Given the description of an element on the screen output the (x, y) to click on. 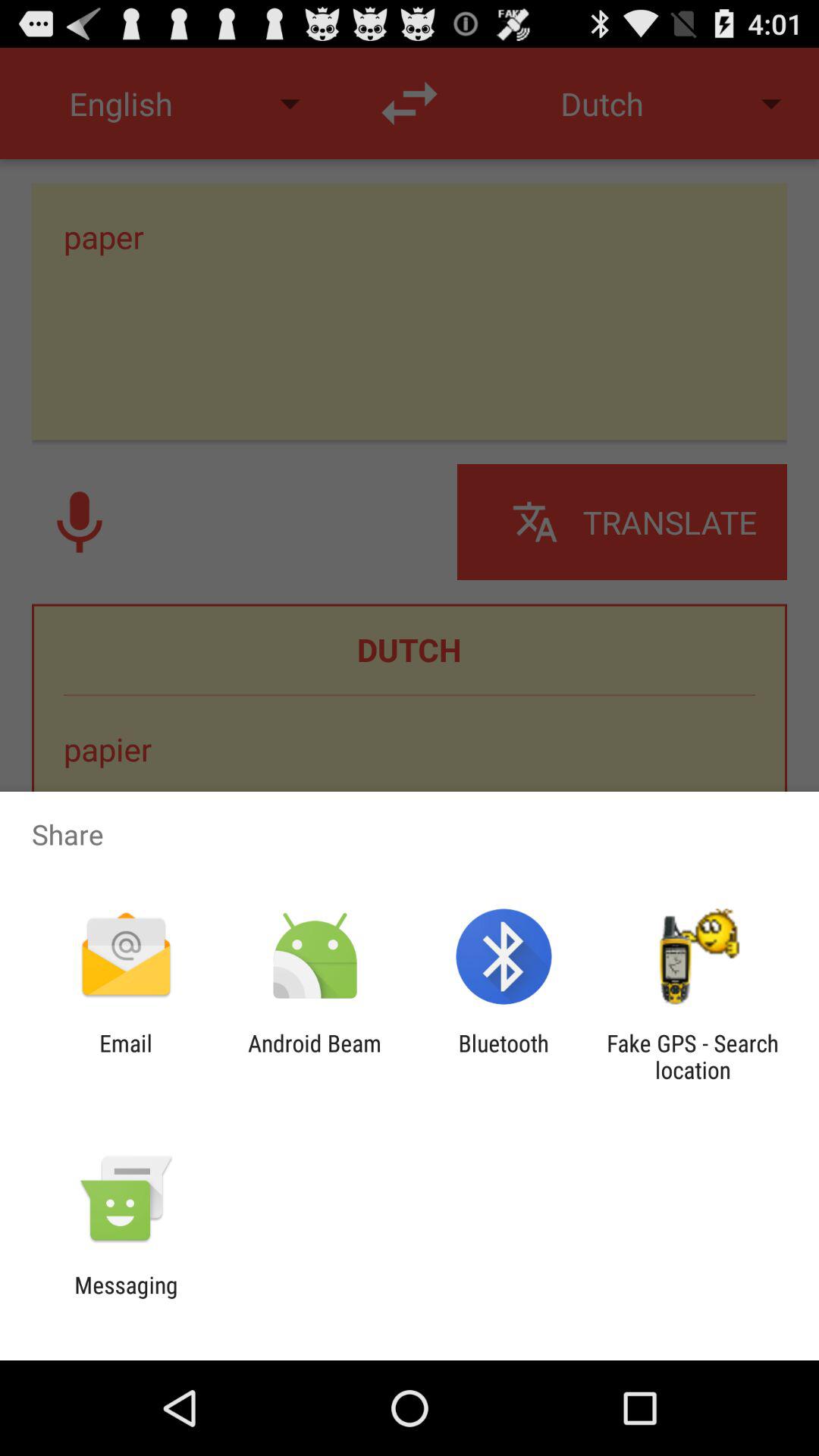
select the item to the right of android beam item (503, 1056)
